Given the description of an element on the screen output the (x, y) to click on. 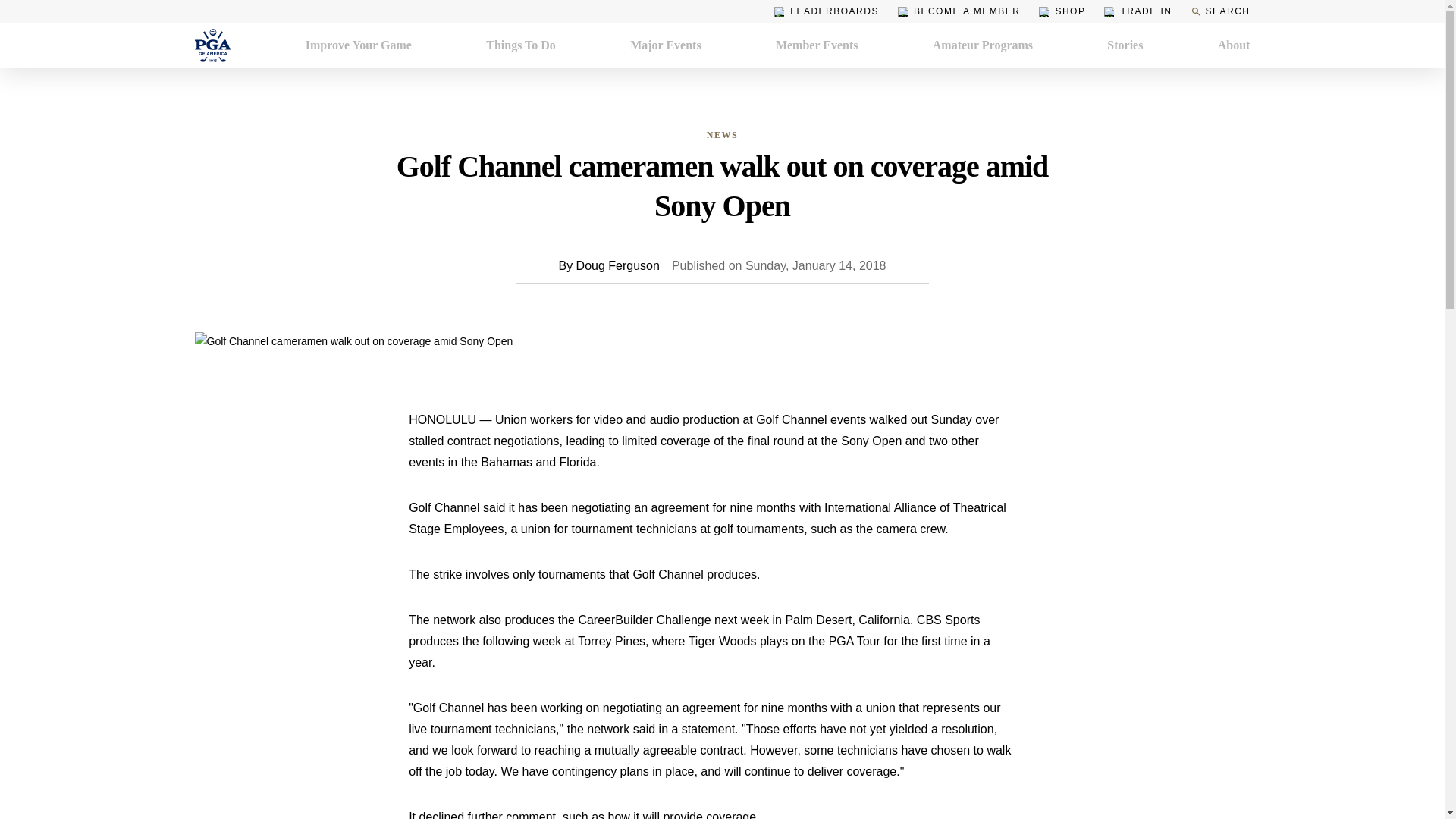
Member Events (817, 44)
Improve Your Game (358, 44)
SHOP (1061, 10)
Things To Do (521, 44)
SEARCH (1220, 11)
Amateur Programs (982, 44)
BECOME A MEMBER (959, 10)
TRADE IN (1137, 10)
Major Events (665, 44)
LEADERBOARDS (826, 10)
